Given the description of an element on the screen output the (x, y) to click on. 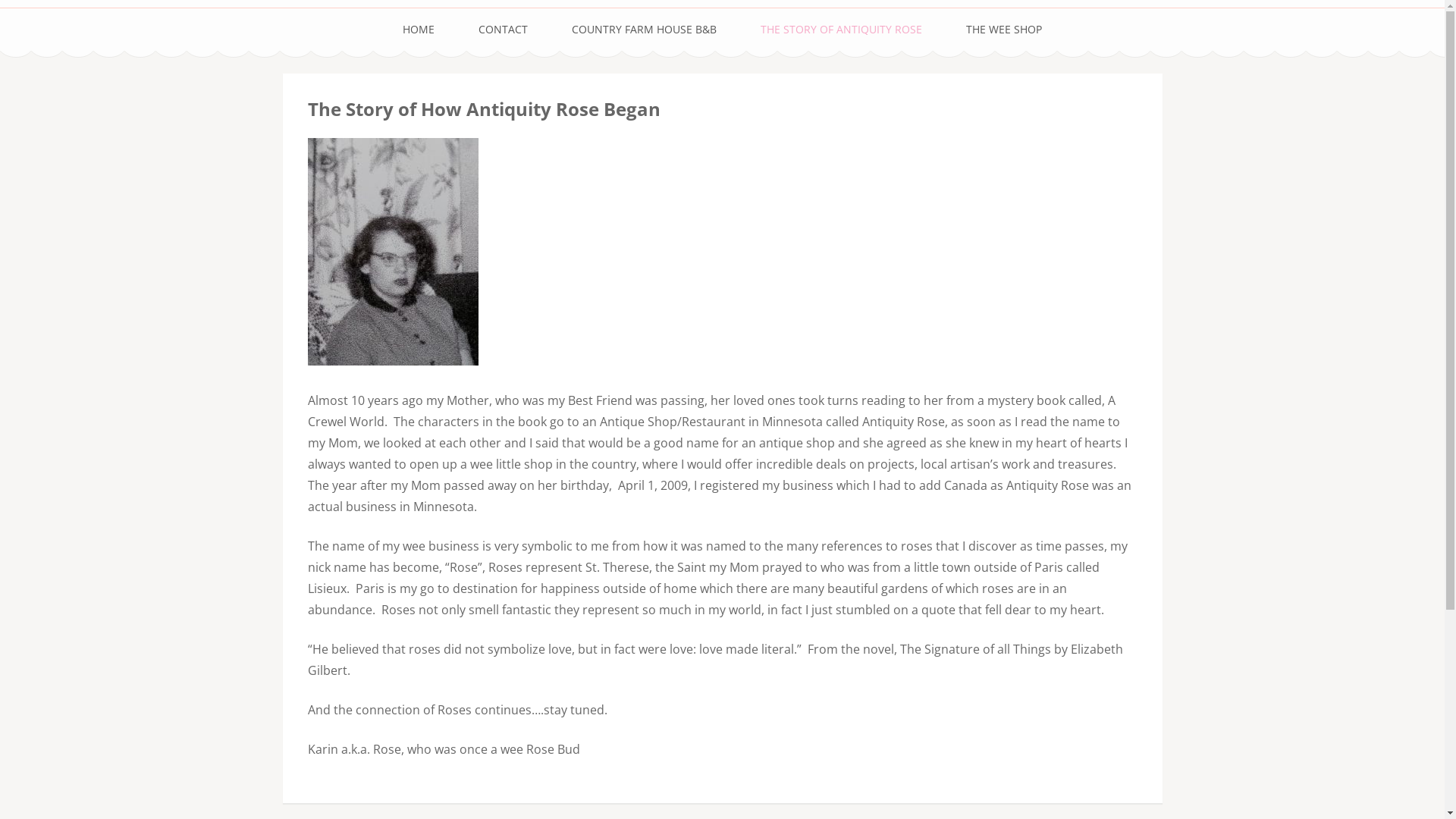
THE STORY OF ANTIQUITY ROSE Element type: text (841, 29)
COUNTRY FARM HOUSE B&B Element type: text (643, 29)
THE WEE SHOP Element type: text (1003, 29)
HOME Element type: text (418, 29)
CONTACT Element type: text (502, 29)
